Given the description of an element on the screen output the (x, y) to click on. 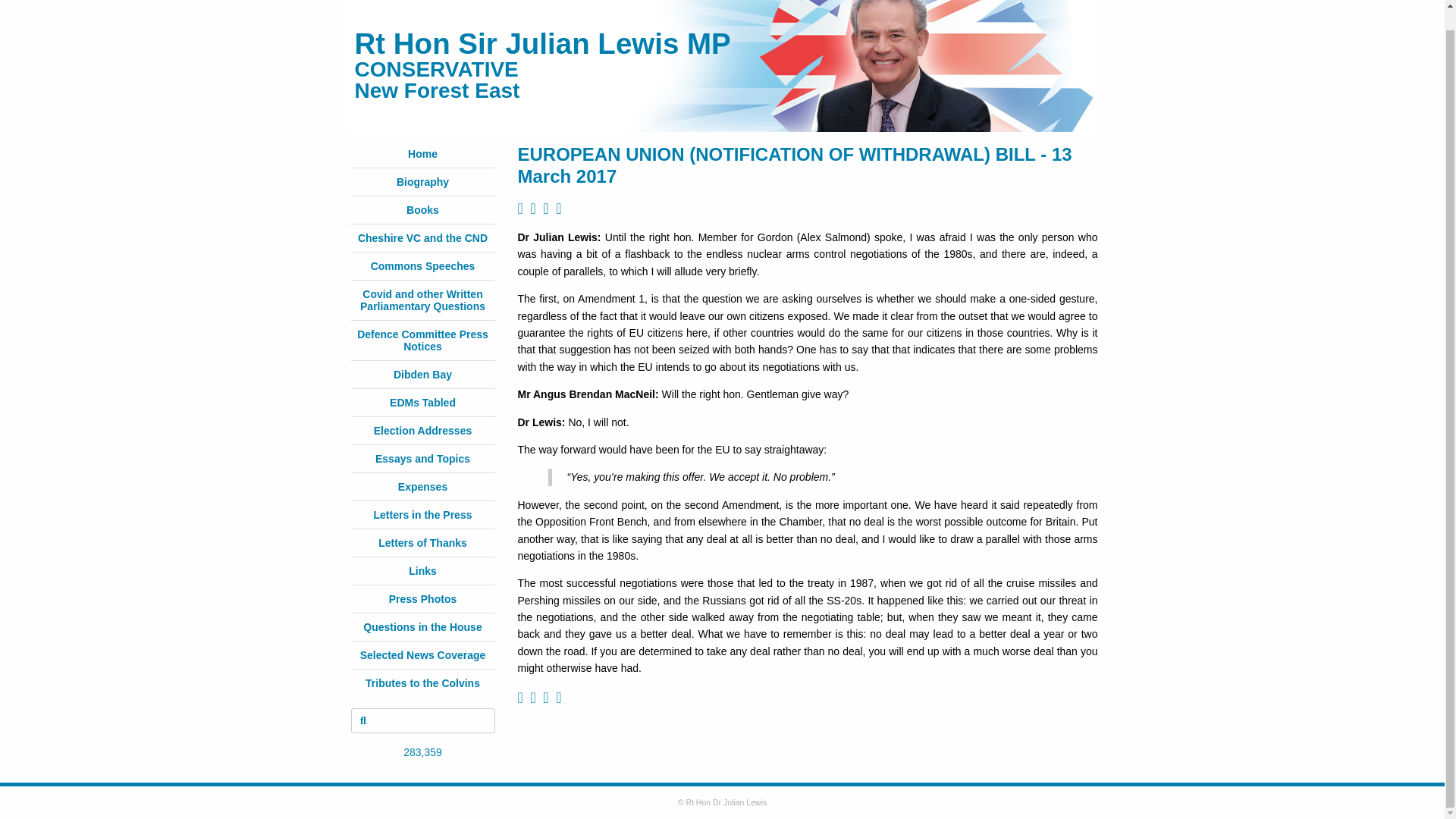
Cheshire VC and the CND (422, 237)
Tributes to the Colvins (422, 683)
Dibden Bay (422, 374)
Letters of Thanks (422, 542)
EDMs Tabled (422, 402)
Commons Speeches (423, 265)
Home (422, 153)
Links (422, 571)
Expenses (421, 486)
Selected News Coverage (422, 654)
Press Photos (422, 598)
Biography (422, 182)
Questions in the House (421, 626)
Defence Committee Press Notices (421, 340)
Covid and other Written Parliamentary Questions (421, 300)
